Given the description of an element on the screen output the (x, y) to click on. 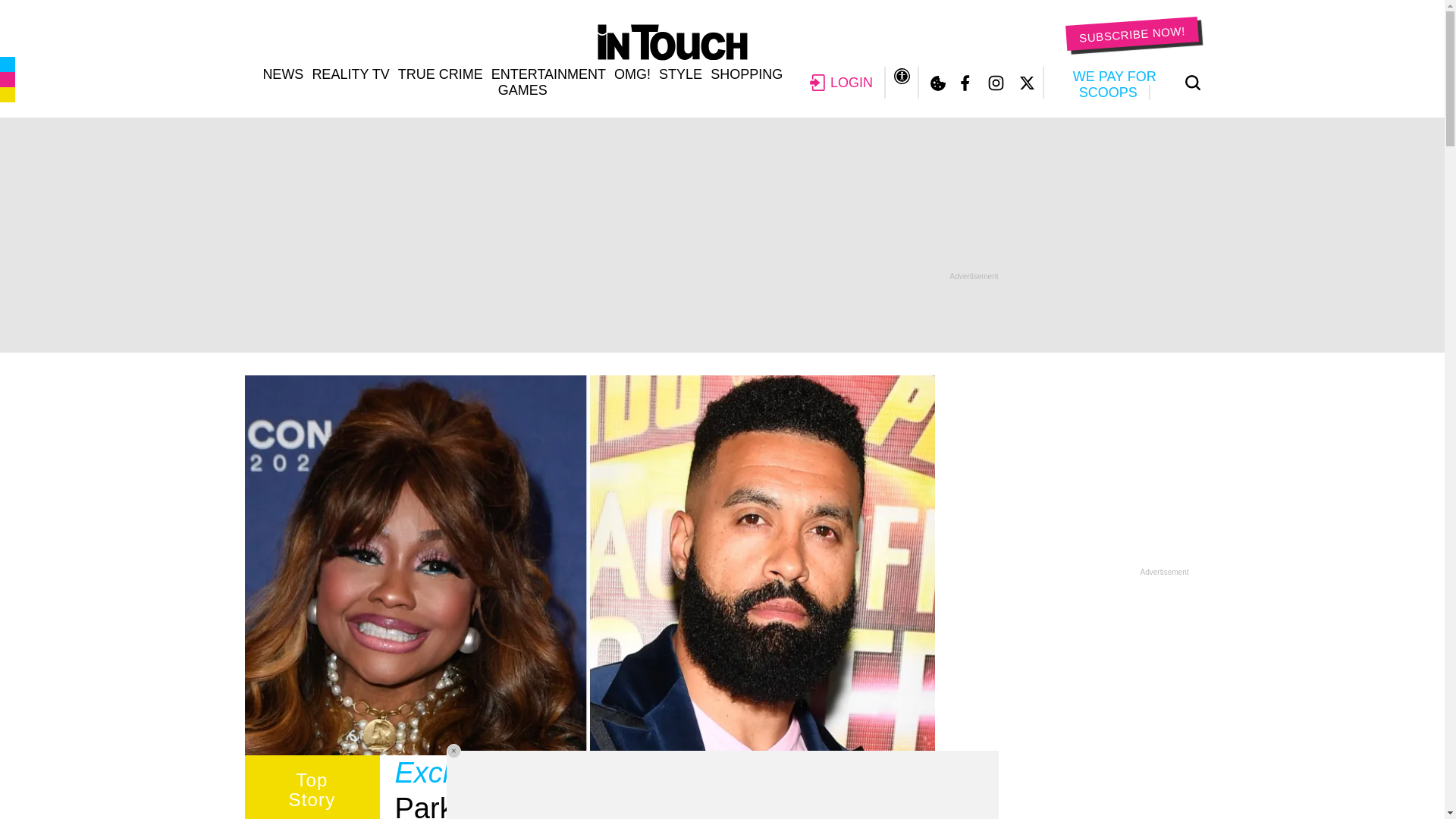
3rd party ad content (1074, 470)
3rd party ad content (721, 234)
3rd party ad content (721, 785)
